Given the description of an element on the screen output the (x, y) to click on. 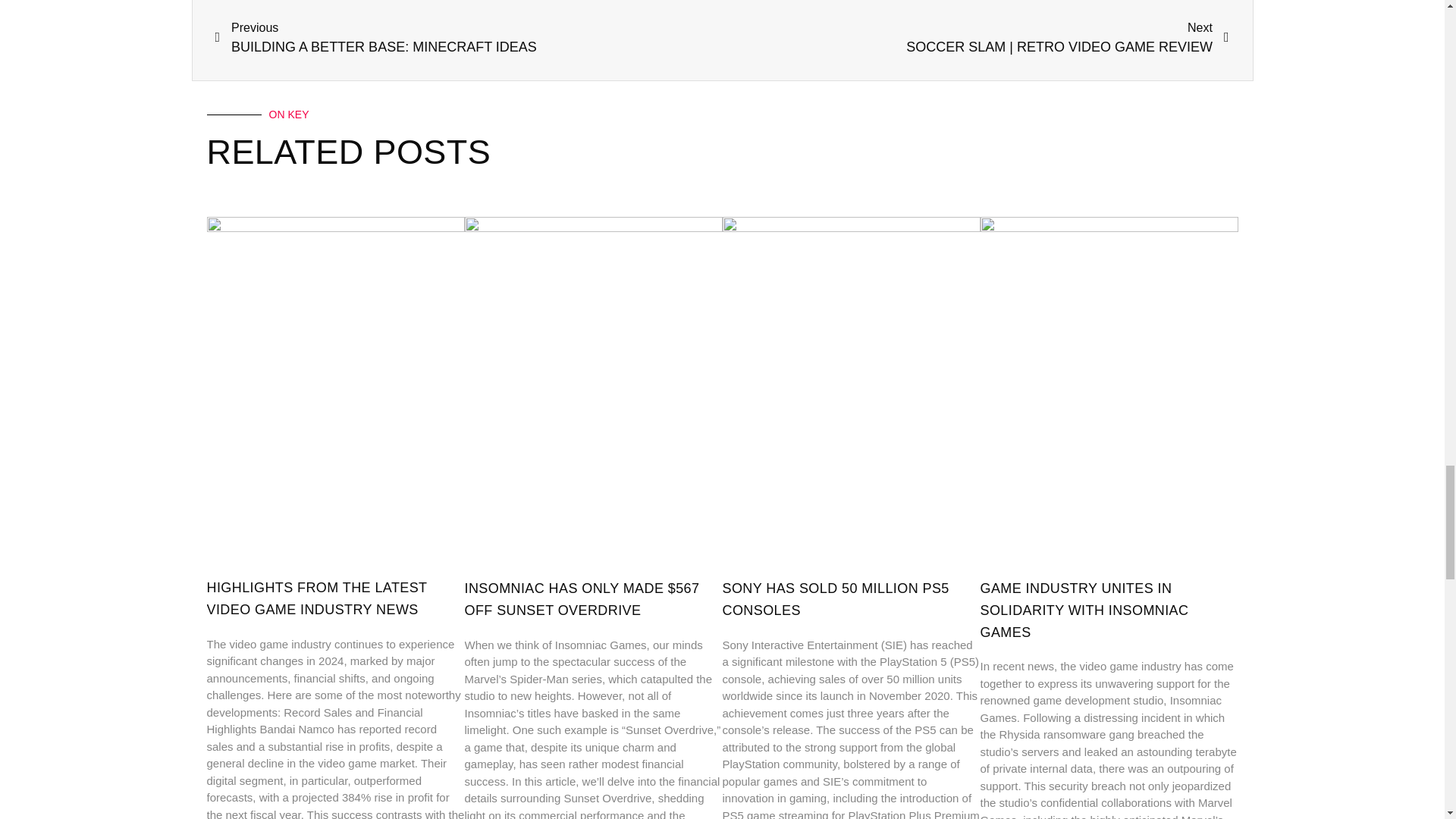
HIGHLIGHTS FROM THE LATEST VIDEO GAME INDUSTRY NEWS (316, 598)
GAME INDUSTRY UNITES IN SOLIDARITY WITH INSOMNIAC GAMES (1083, 609)
SONY HAS SOLD 50 MILLION PS5 CONSOLES (835, 599)
